Given the description of an element on the screen output the (x, y) to click on. 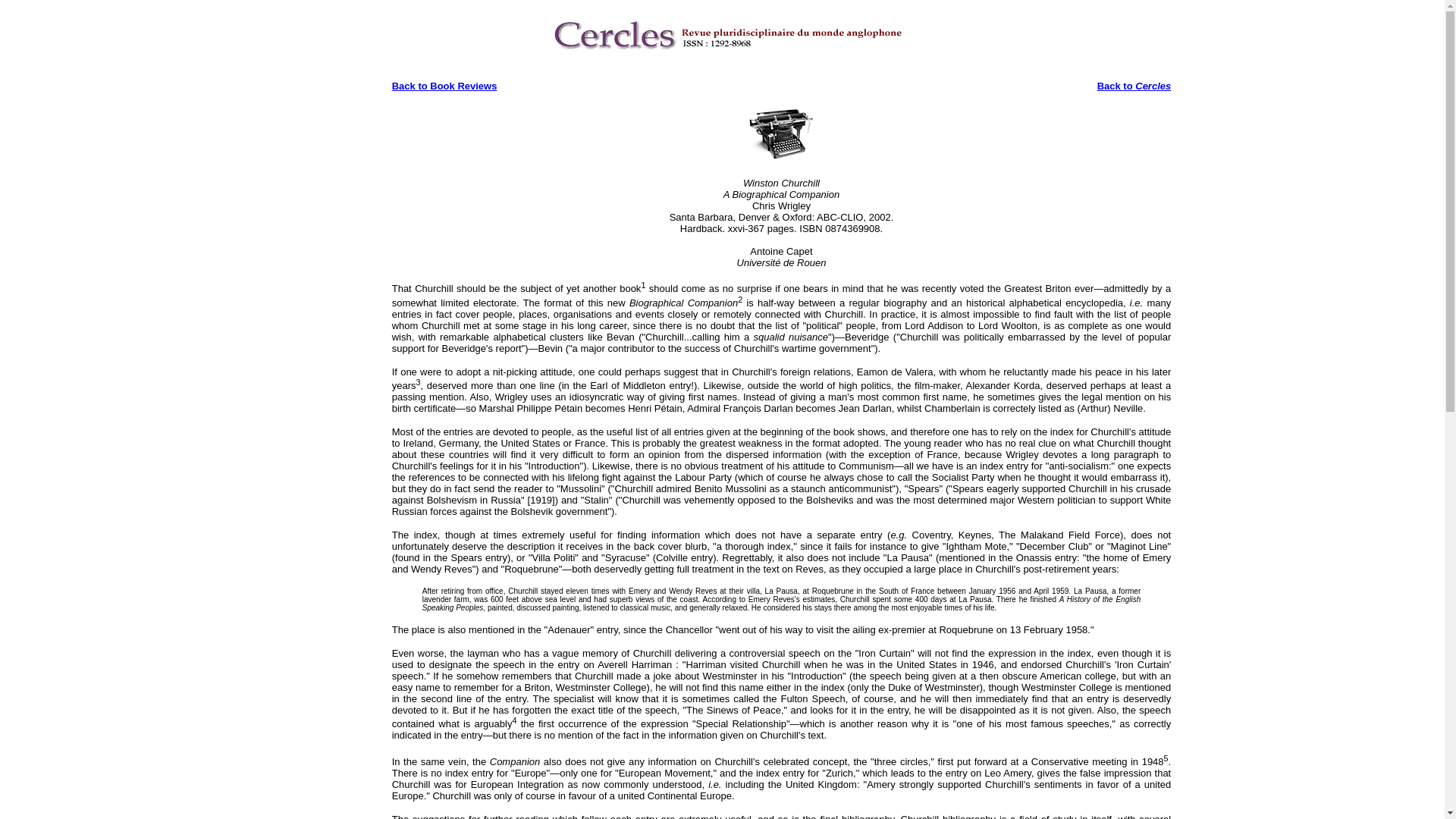
Back to Book Reviews (444, 85)
Back to Cercles (1134, 85)
